Given the description of an element on the screen output the (x, y) to click on. 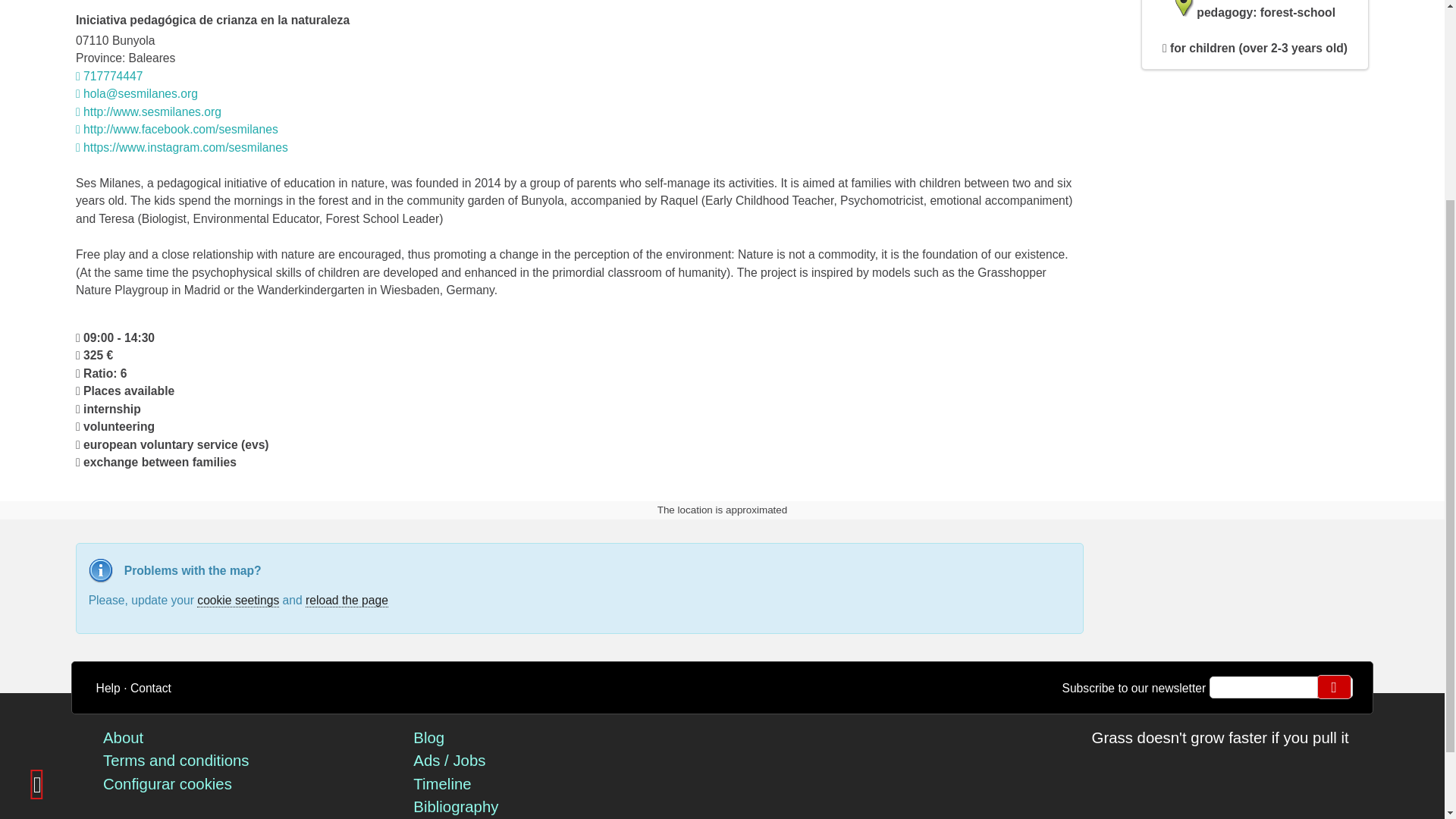
Configurar cookies (167, 783)
717774447 (108, 75)
Timeline (441, 783)
cookie seetings (237, 600)
Phone (108, 75)
About (122, 737)
Help (108, 687)
email (1281, 687)
Timeline (441, 783)
Blog (428, 737)
